Given the description of an element on the screen output the (x, y) to click on. 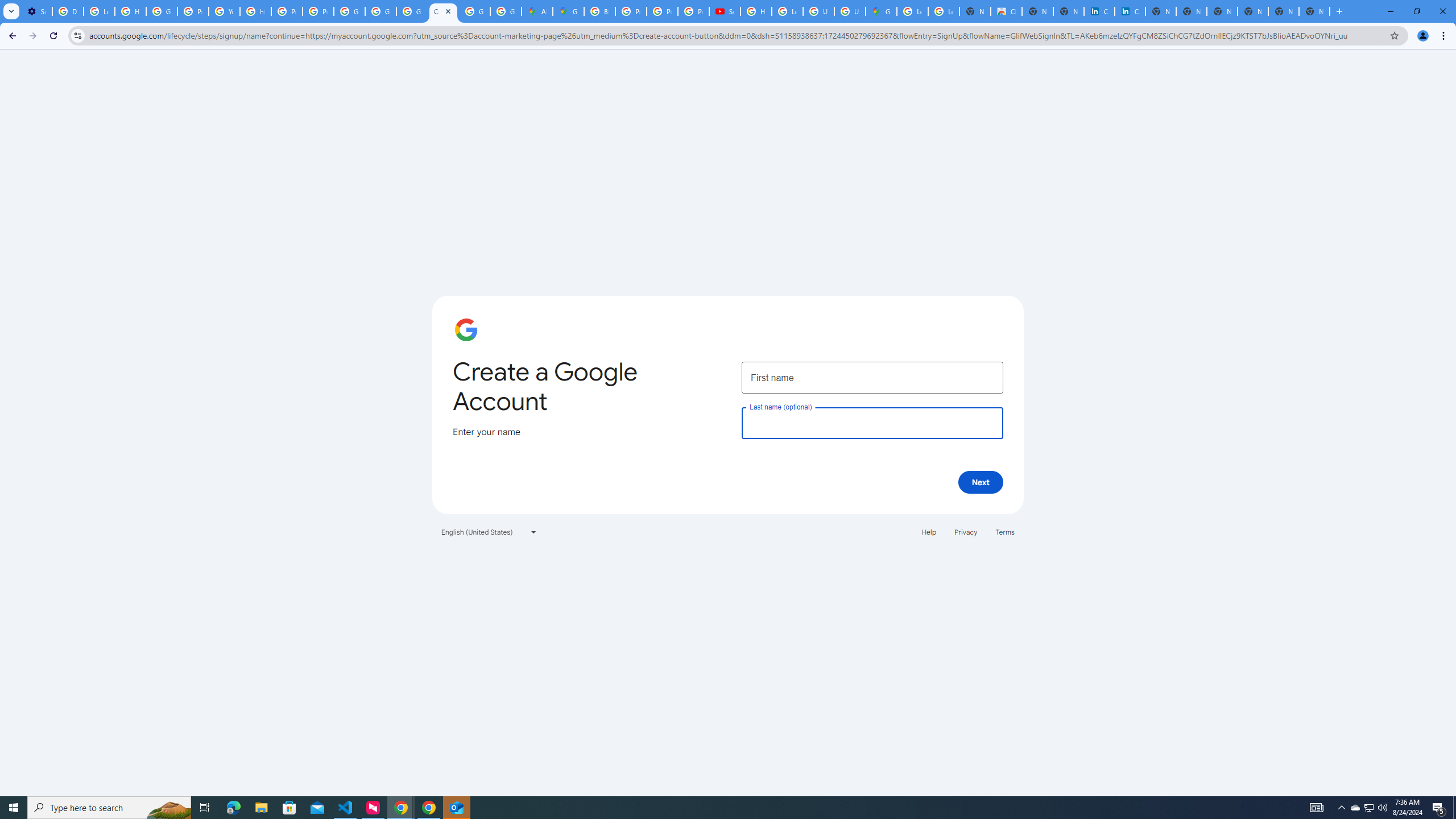
Google Maps (568, 11)
Settings - Customize profile (36, 11)
Blogger Policies and Guidelines - Transparency Center (599, 11)
Chrome Web Store (1005, 11)
